Given the description of an element on the screen output the (x, y) to click on. 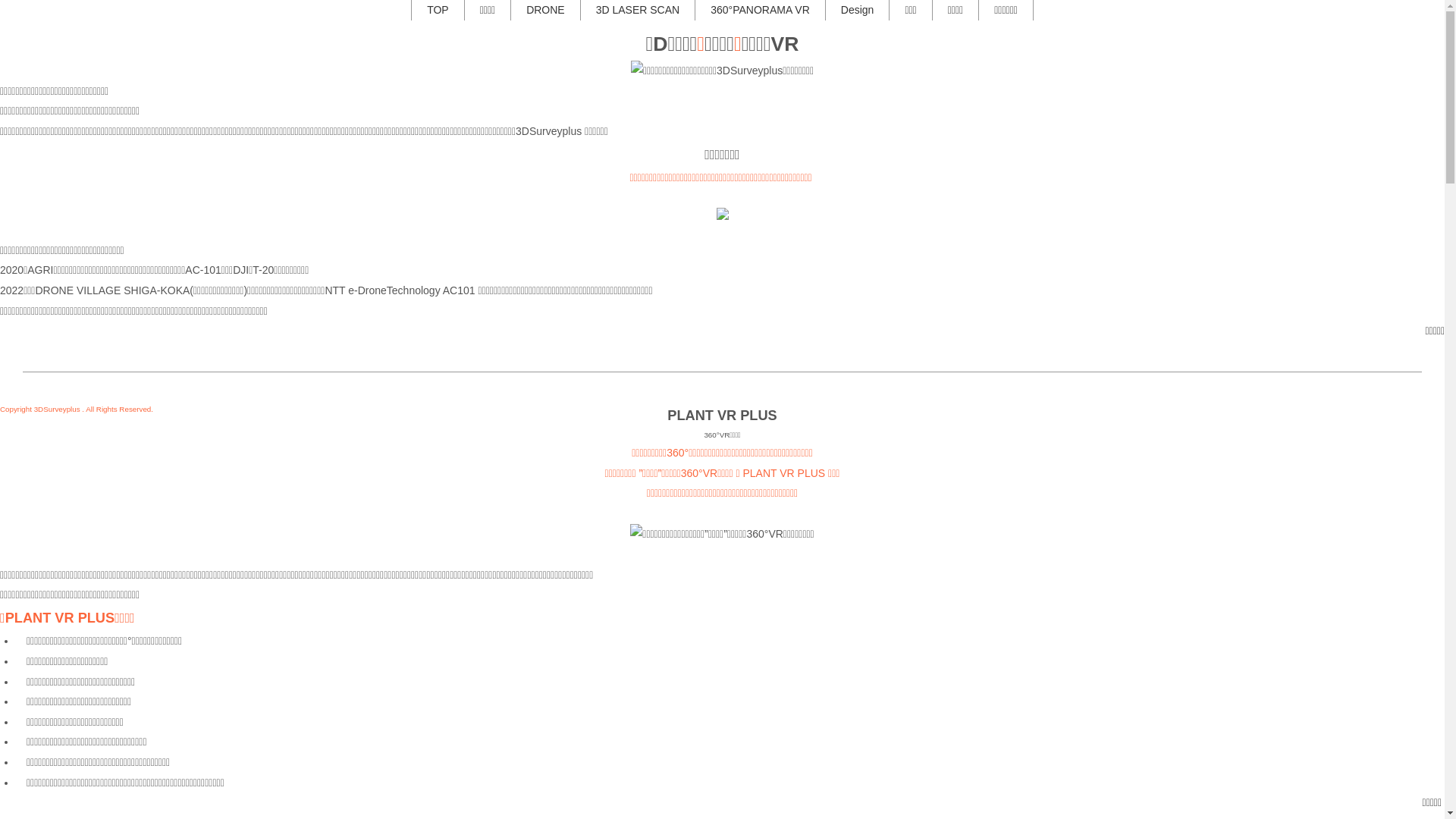
Design Element type: text (857, 10)
DRONE Element type: text (545, 10)
TOP Element type: text (437, 10)
3D LASER SCAN Element type: text (637, 10)
